Given the description of an element on the screen output the (x, y) to click on. 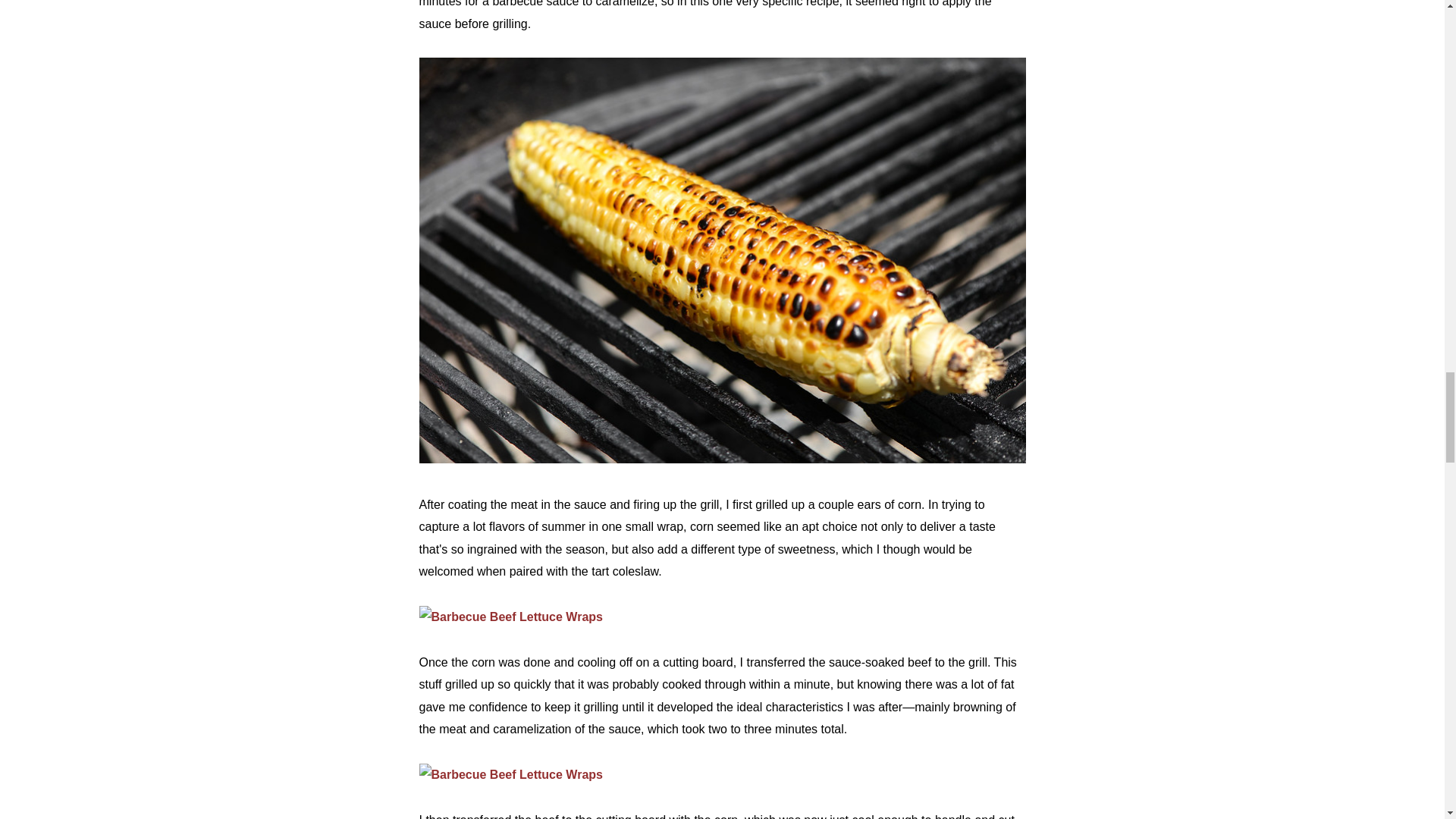
Barbecue Beef Lettuce Wraps (510, 774)
Barbecue Beef Lettuce Wraps (510, 616)
Barbecue Beef Lettuce Wraps (722, 459)
